Given the description of an element on the screen output the (x, y) to click on. 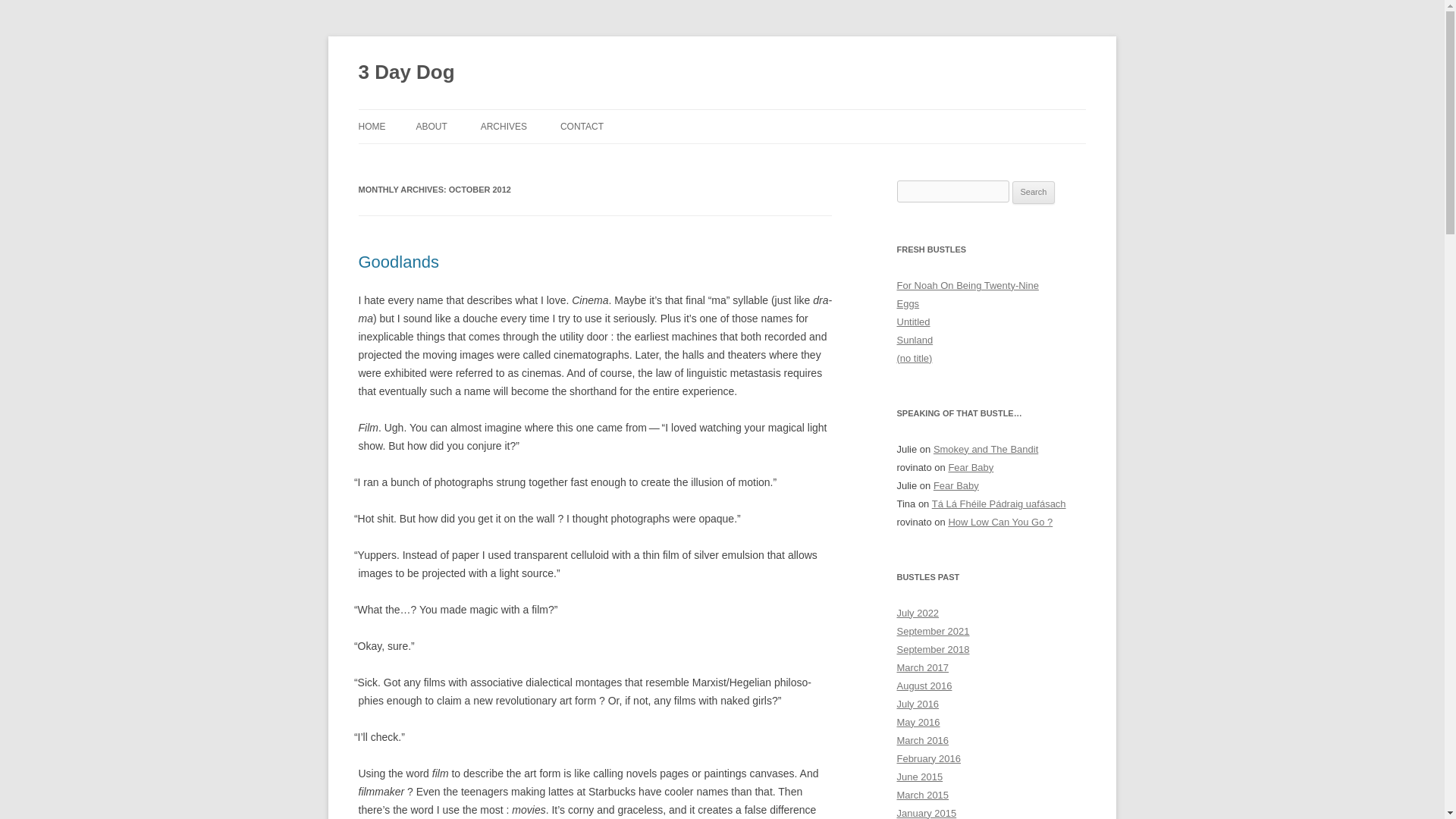
Search (1033, 191)
September 2018 (932, 649)
July 2016 (917, 704)
ARCHIVES (503, 126)
Search (1033, 191)
Eggs (907, 303)
CONTACT (582, 126)
March 2017 (922, 667)
Untitled (913, 321)
